Given the description of an element on the screen output the (x, y) to click on. 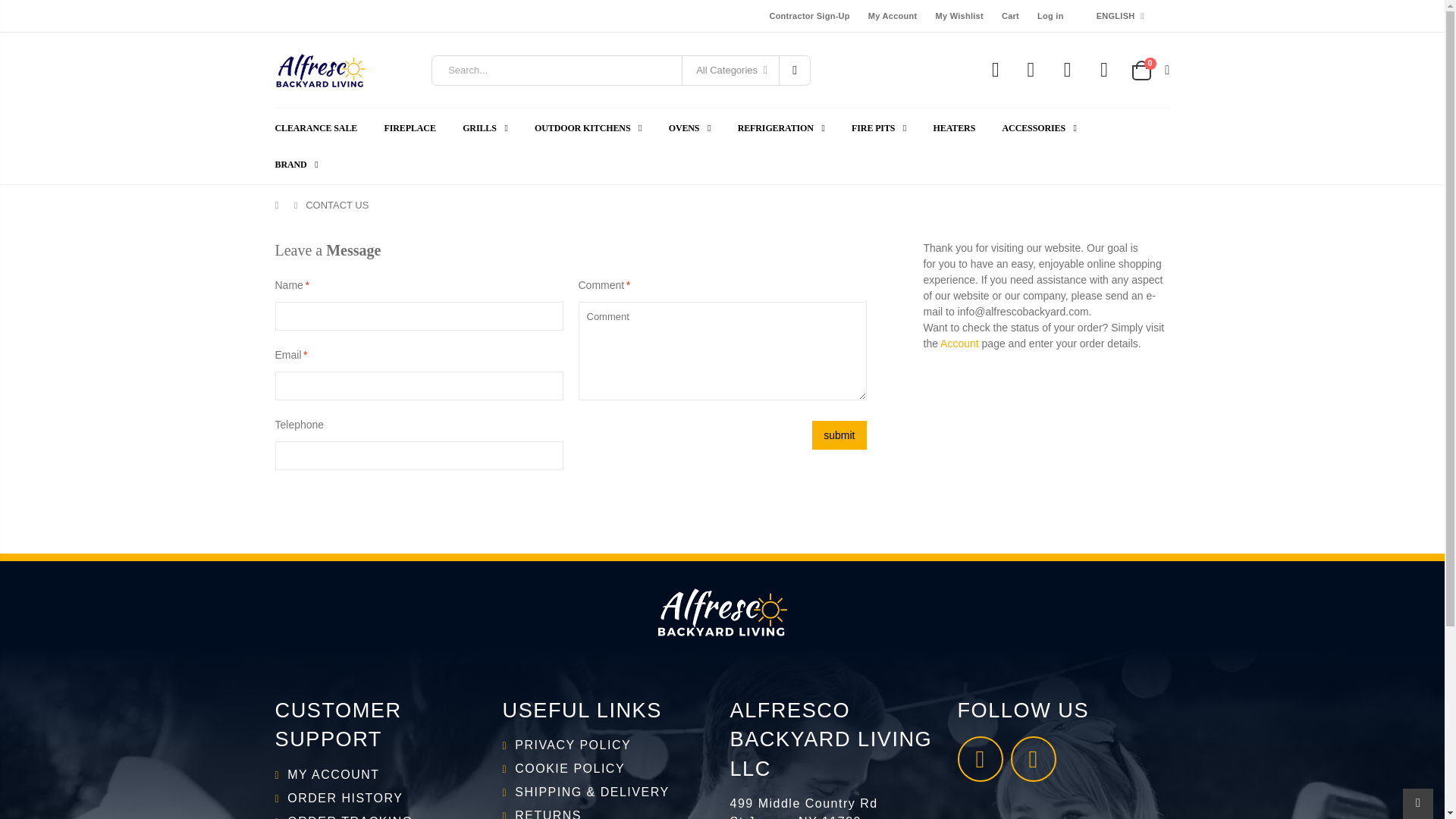
ENGLISH (1119, 15)
Contractor Sign-Up (808, 15)
Alfresco Backyard Living (995, 69)
submit (839, 434)
My Wishlist (958, 15)
en (1119, 39)
Alfresco Backyard Living (1029, 69)
All Categories (729, 69)
All Categories (730, 69)
Account (959, 343)
